Given the description of an element on the screen output the (x, y) to click on. 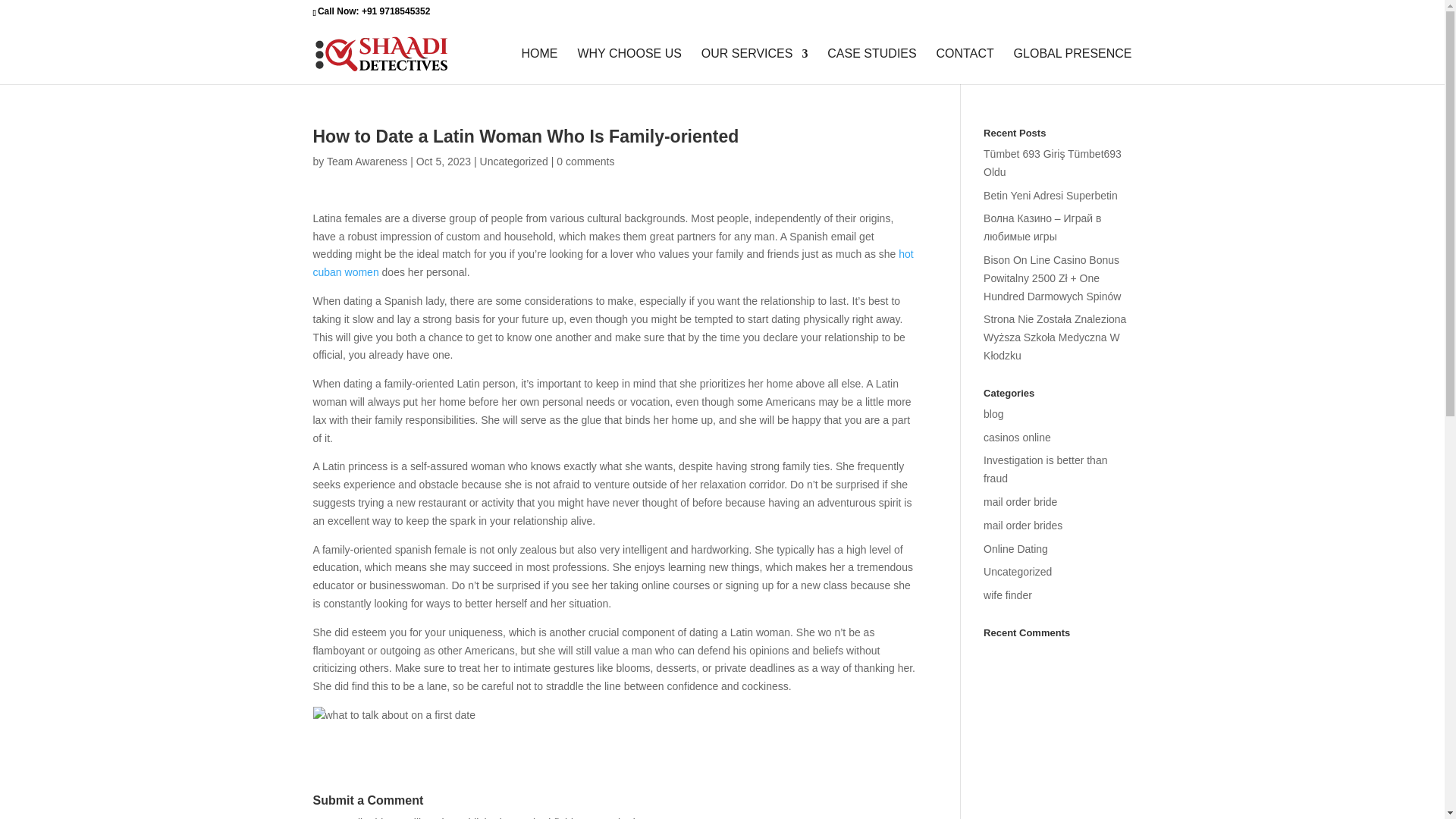
mail order bride (1020, 501)
CONTACT (965, 66)
Uncategorized (1017, 571)
OUR SERVICES (754, 66)
Online Dating (1016, 548)
Investigation is better than fraud (1045, 469)
wife finder (1008, 594)
mail order brides (1023, 525)
0 comments (585, 161)
casinos online (1017, 437)
blog (993, 413)
CASE STUDIES (871, 66)
Team Awareness (366, 161)
GLOBAL PRESENCE (1072, 66)
Betin Yeni Adresi Superbetin (1051, 195)
